Given the description of an element on the screen output the (x, y) to click on. 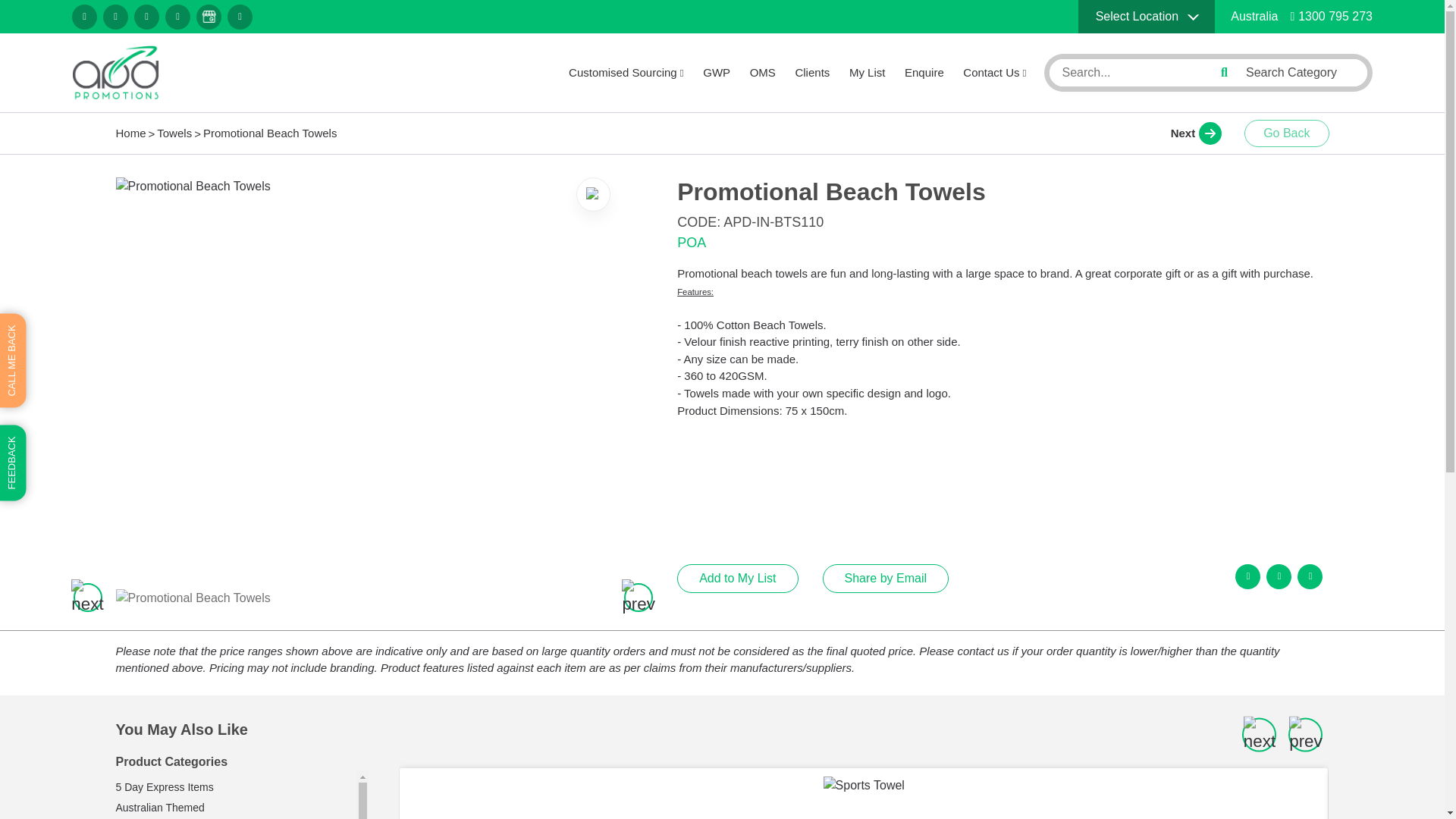
My List (866, 72)
Search Category (1300, 71)
Contact Us (994, 72)
Customised Sourcing (626, 72)
GWP (716, 72)
Enquire (923, 72)
1300 795 273 (1331, 16)
Select Location (1146, 16)
Clients (811, 72)
OMS (762, 72)
